Given the description of an element on the screen output the (x, y) to click on. 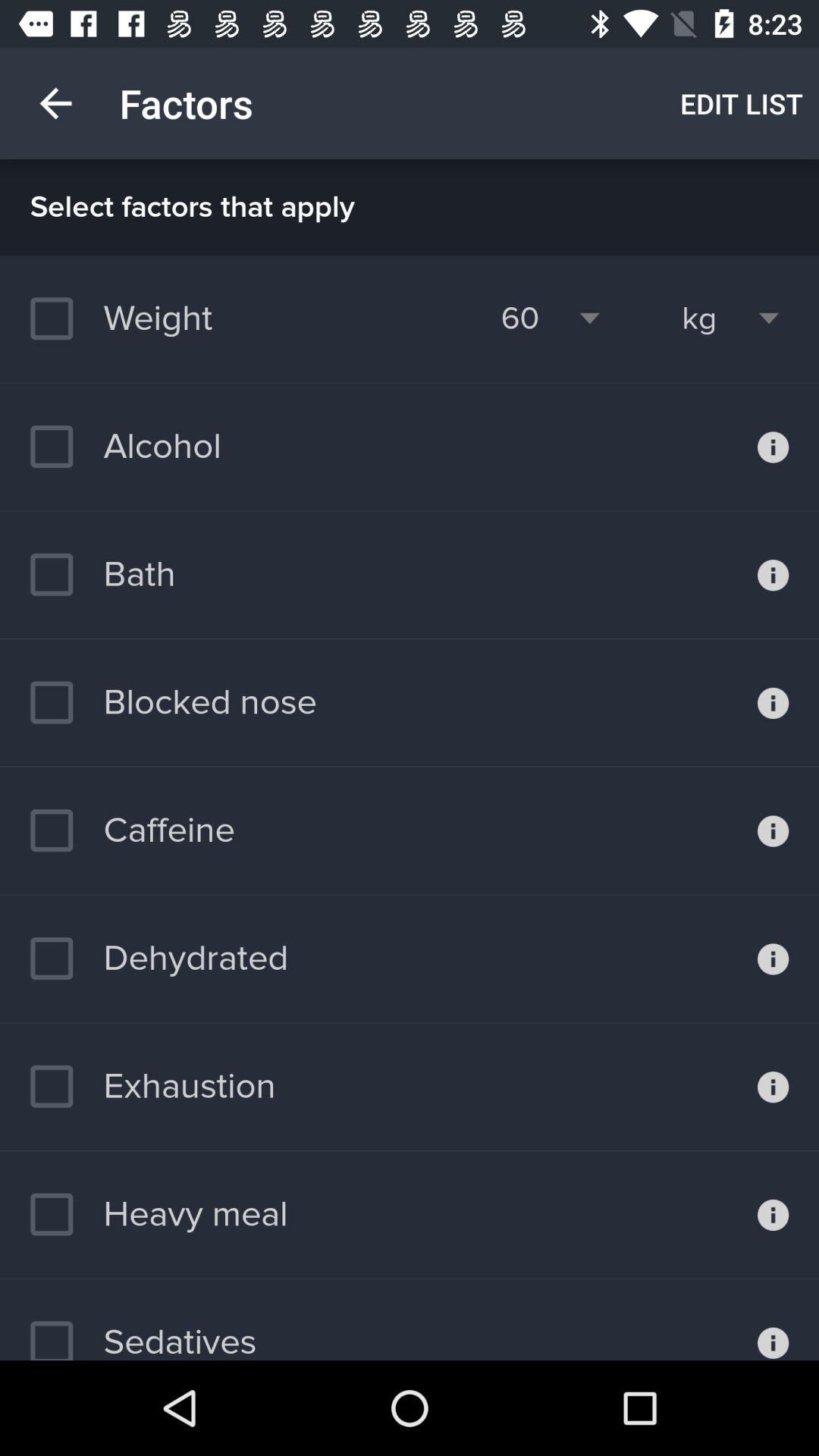
more information (773, 574)
